Given the description of an element on the screen output the (x, y) to click on. 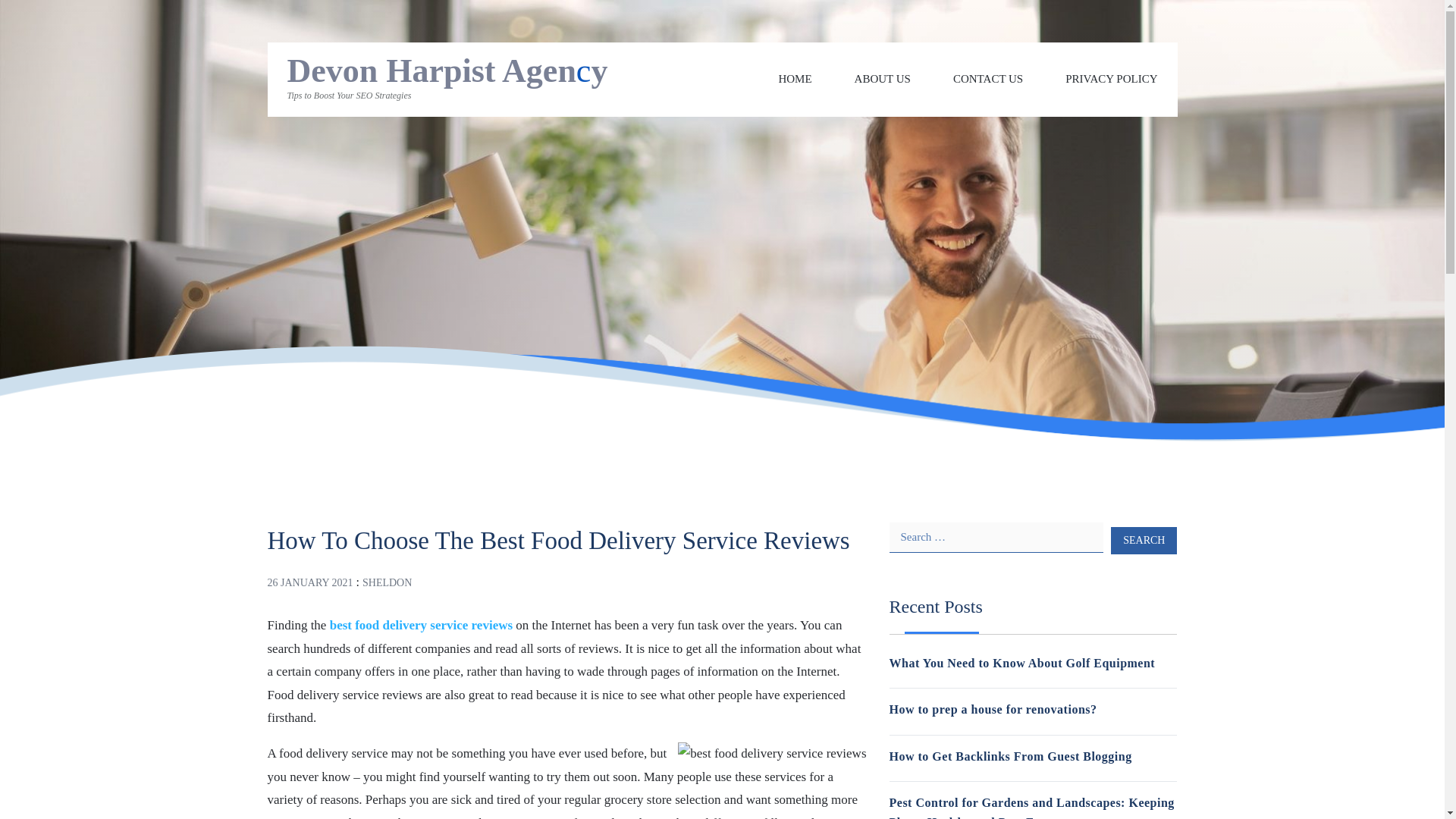
How to prep a house for renovations? (992, 708)
Search (1143, 539)
SHELDON (387, 582)
How to Get Backlinks From Guest Blogging (1009, 756)
CONTACT US (988, 78)
Search (1143, 539)
What You Need to Know About Golf Equipment (1021, 662)
ABOUT US (882, 78)
26 JANUARY 2021 (309, 582)
best food delivery service reviews (421, 625)
Search (1143, 539)
HOME (793, 78)
PRIVACY POLICY (1111, 78)
Devon Harpist Agency (446, 70)
